Given the description of an element on the screen output the (x, y) to click on. 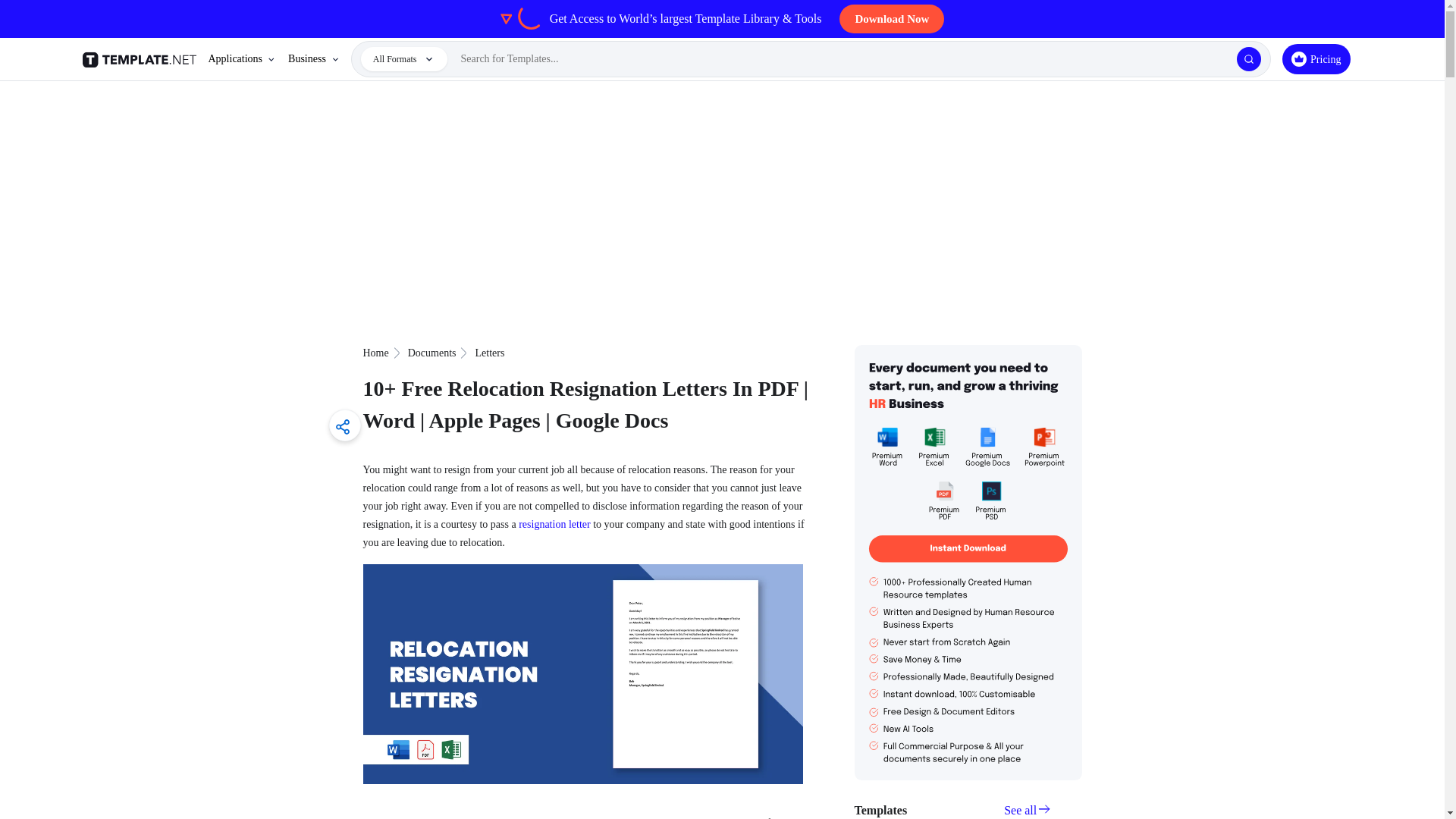
Pricing (1315, 59)
Download Now (891, 18)
Template.net (141, 59)
